Given the description of an element on the screen output the (x, y) to click on. 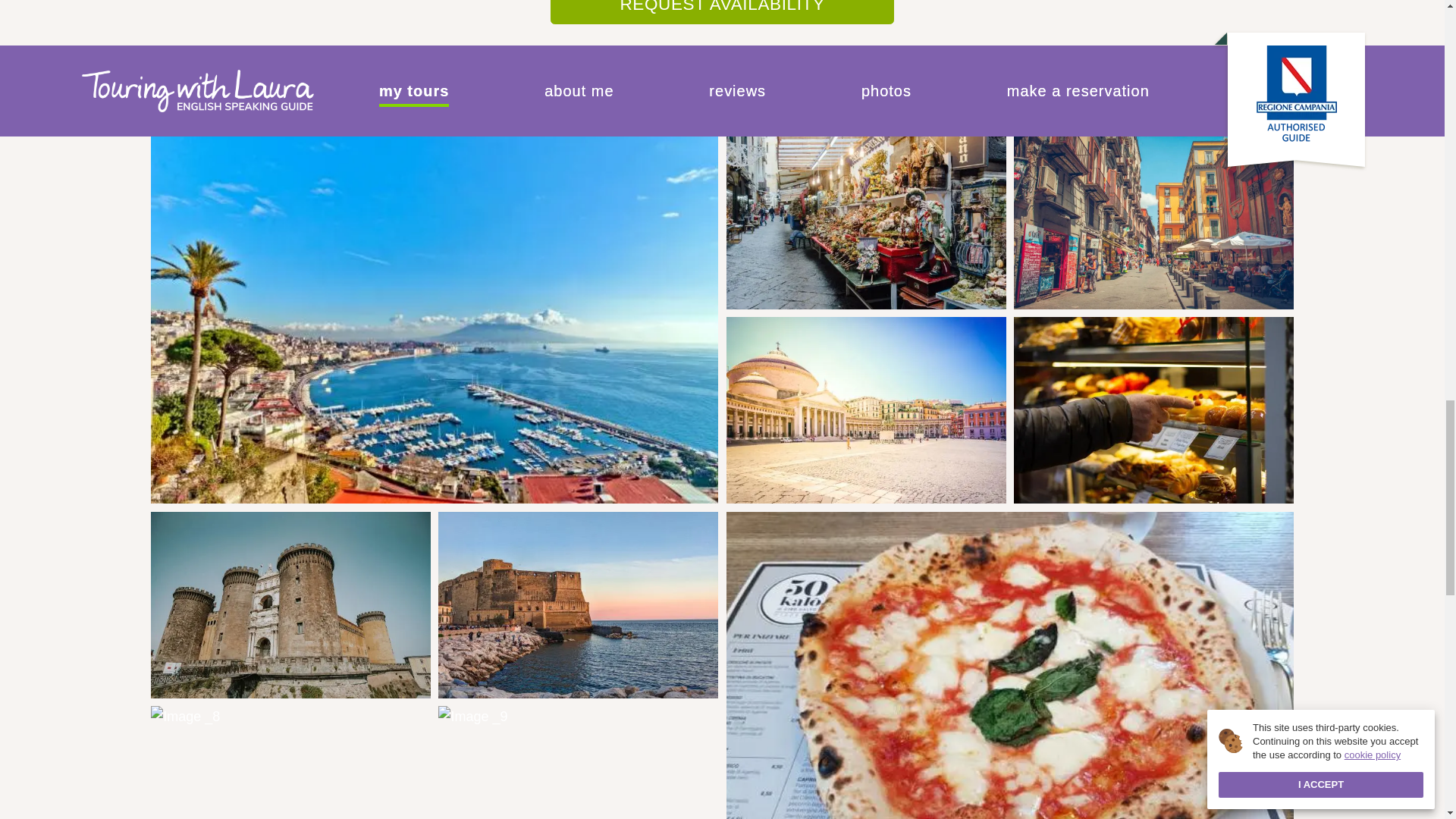
Send Request (722, 756)
